Given the description of an element on the screen output the (x, y) to click on. 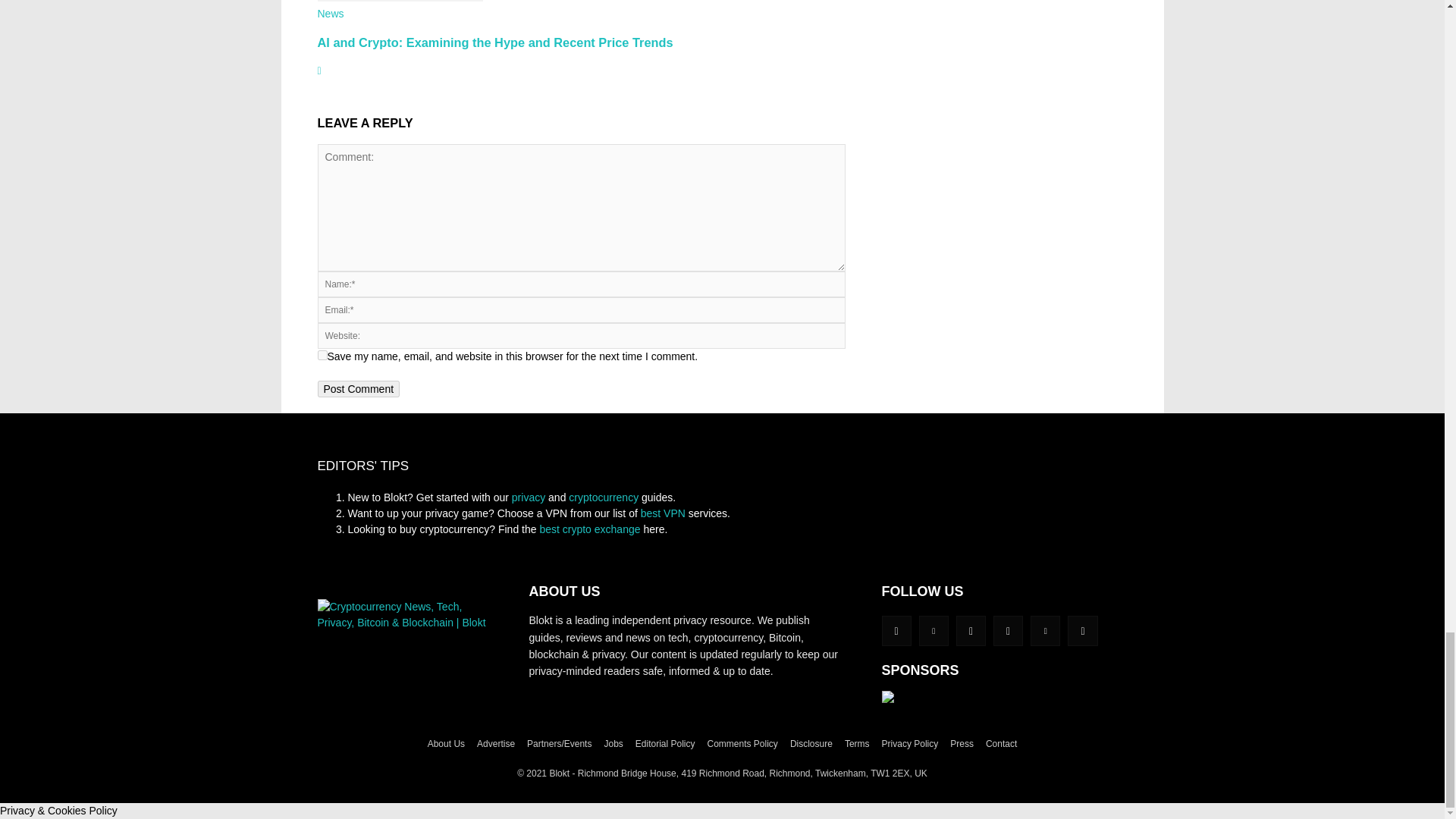
yes (321, 355)
Post Comment (357, 388)
